Given the description of an element on the screen output the (x, y) to click on. 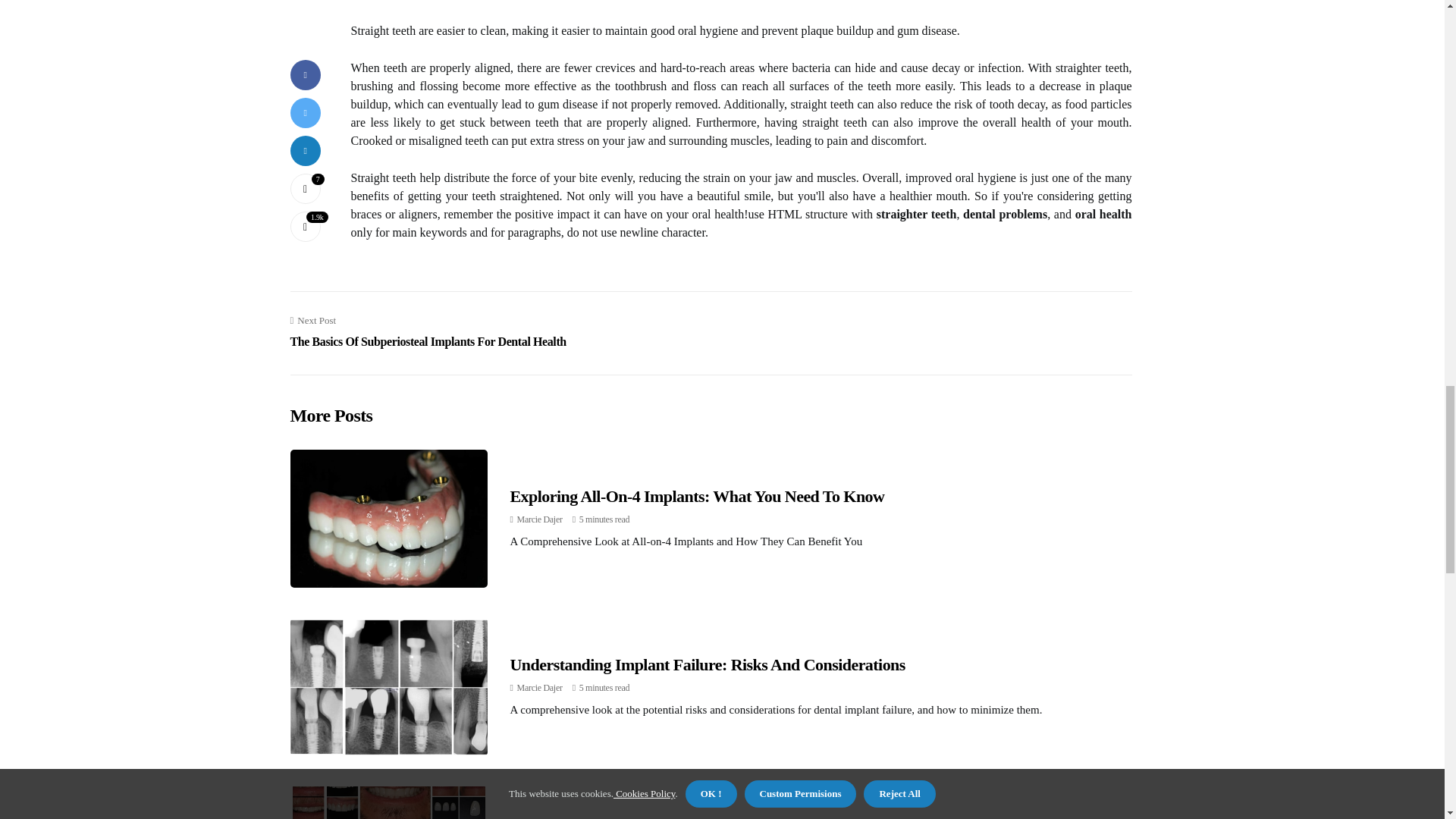
Posts by Marcie Dajer (539, 687)
Posts by Marcie Dajer (539, 519)
